Given the description of an element on the screen output the (x, y) to click on. 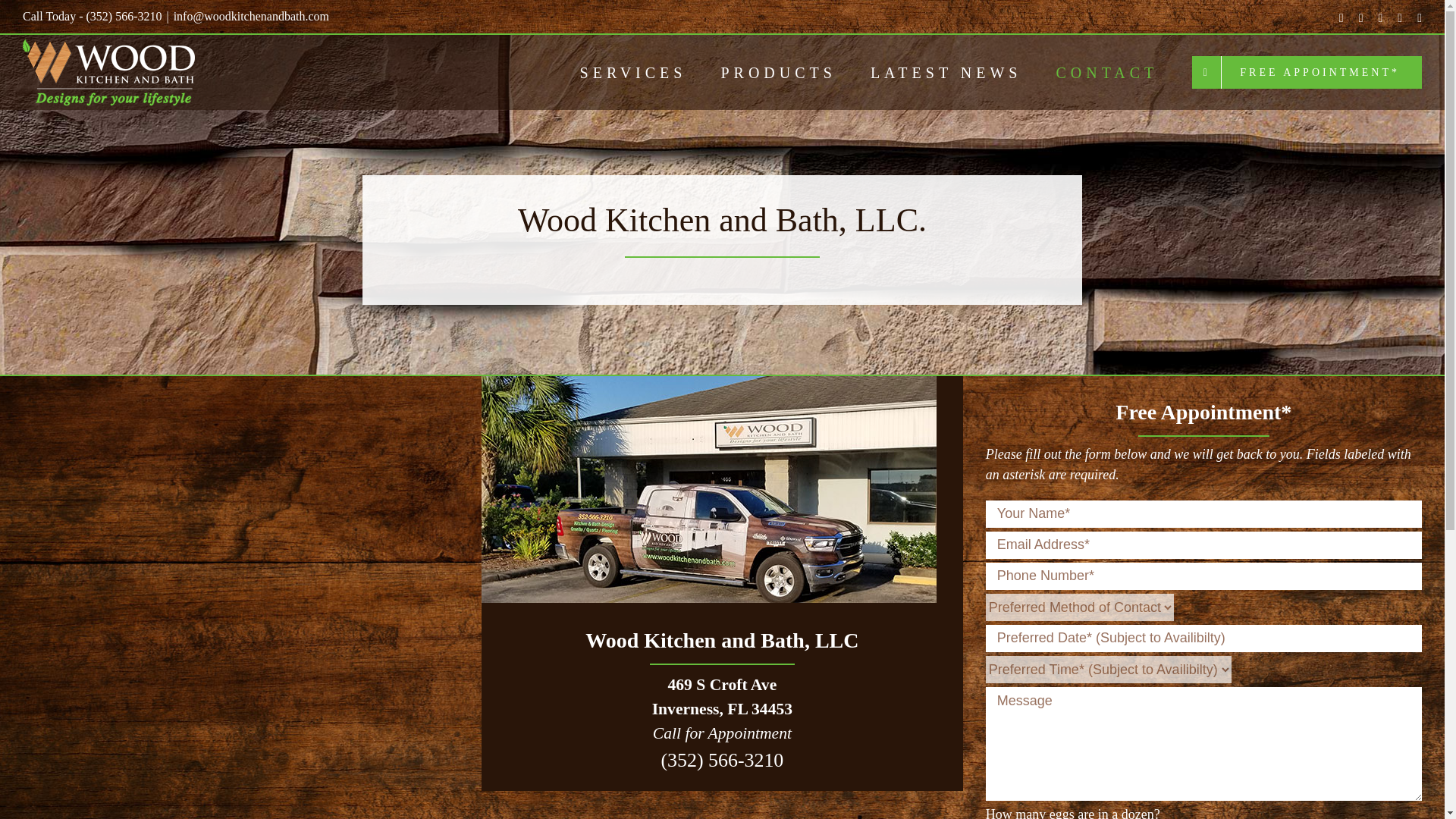
LATEST NEWS (946, 72)
Wood Kitchen and Bath Office (708, 488)
SERVICES (633, 72)
CONTACT (1106, 72)
PRODUCTS (777, 72)
